Given the description of an element on the screen output the (x, y) to click on. 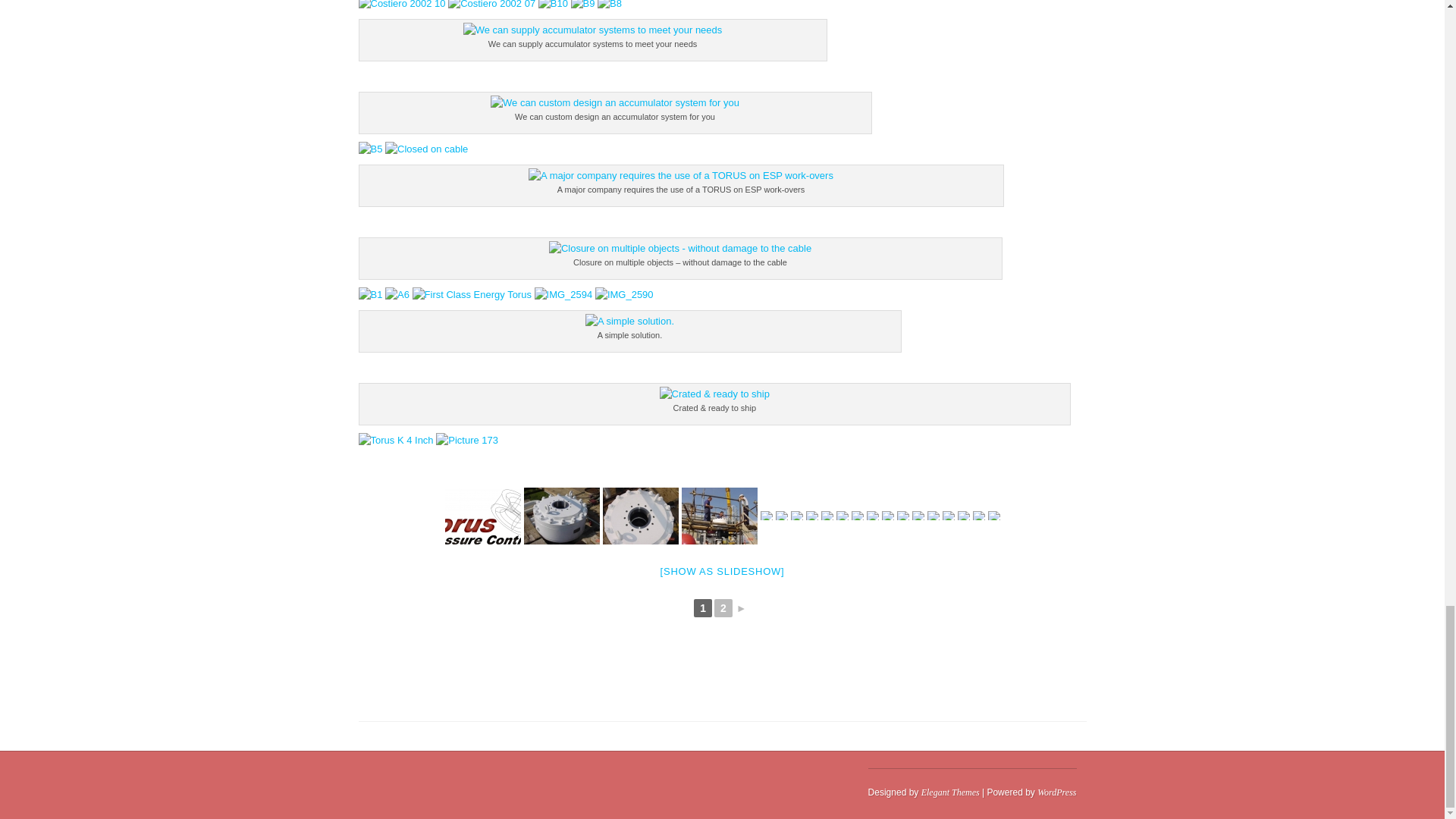
Torus BOP in Service (719, 515)
torus-logo (481, 515)
Looking into the bore of a Torus BOP (640, 515)
A Torus BOP on site (560, 515)
A 'specialty' Torus product (780, 515)
costiero-2002-31 (765, 515)
